Given the description of an element on the screen output the (x, y) to click on. 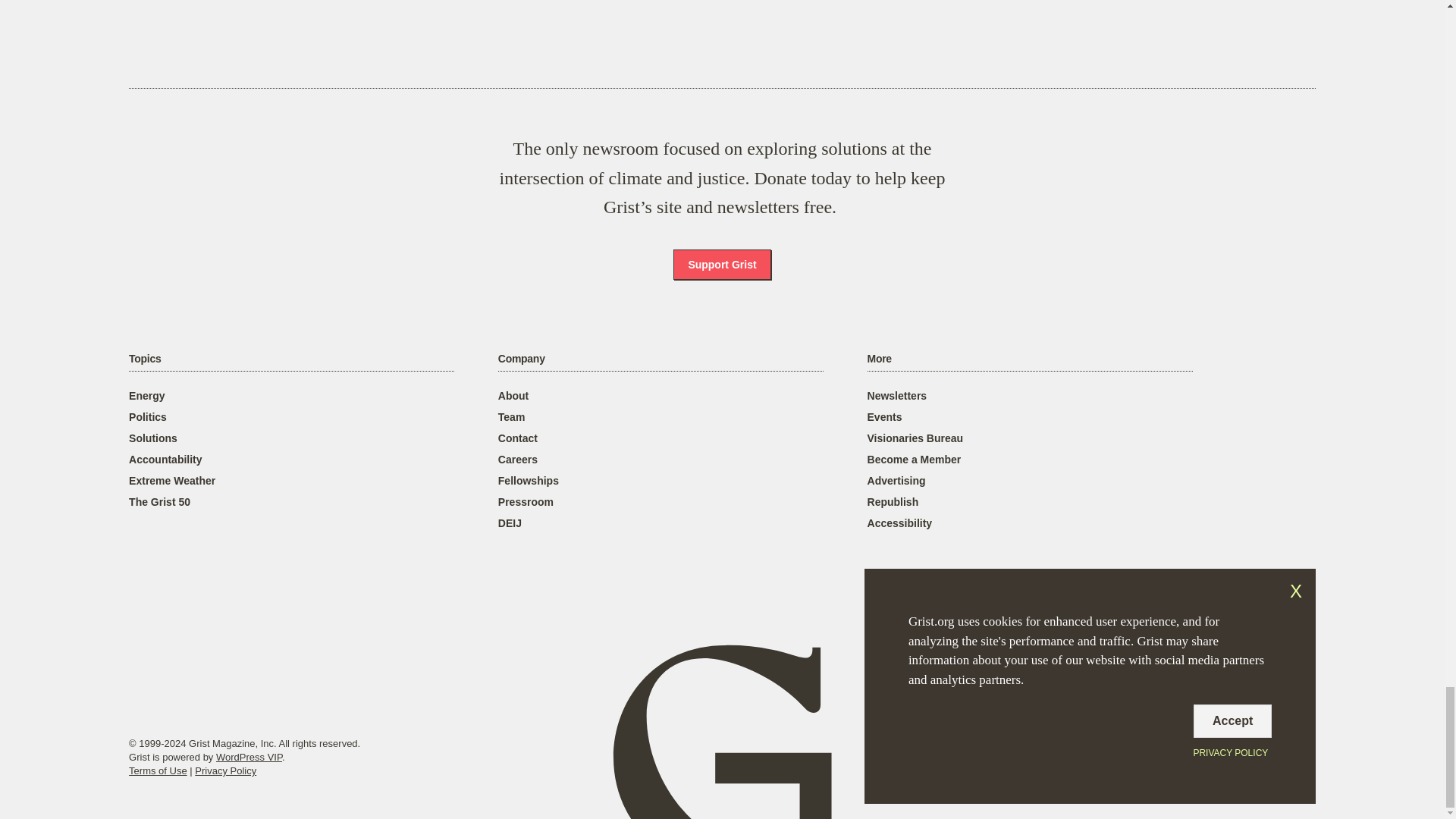
Topics (144, 358)
More (879, 358)
Company (520, 358)
